Given the description of an element on the screen output the (x, y) to click on. 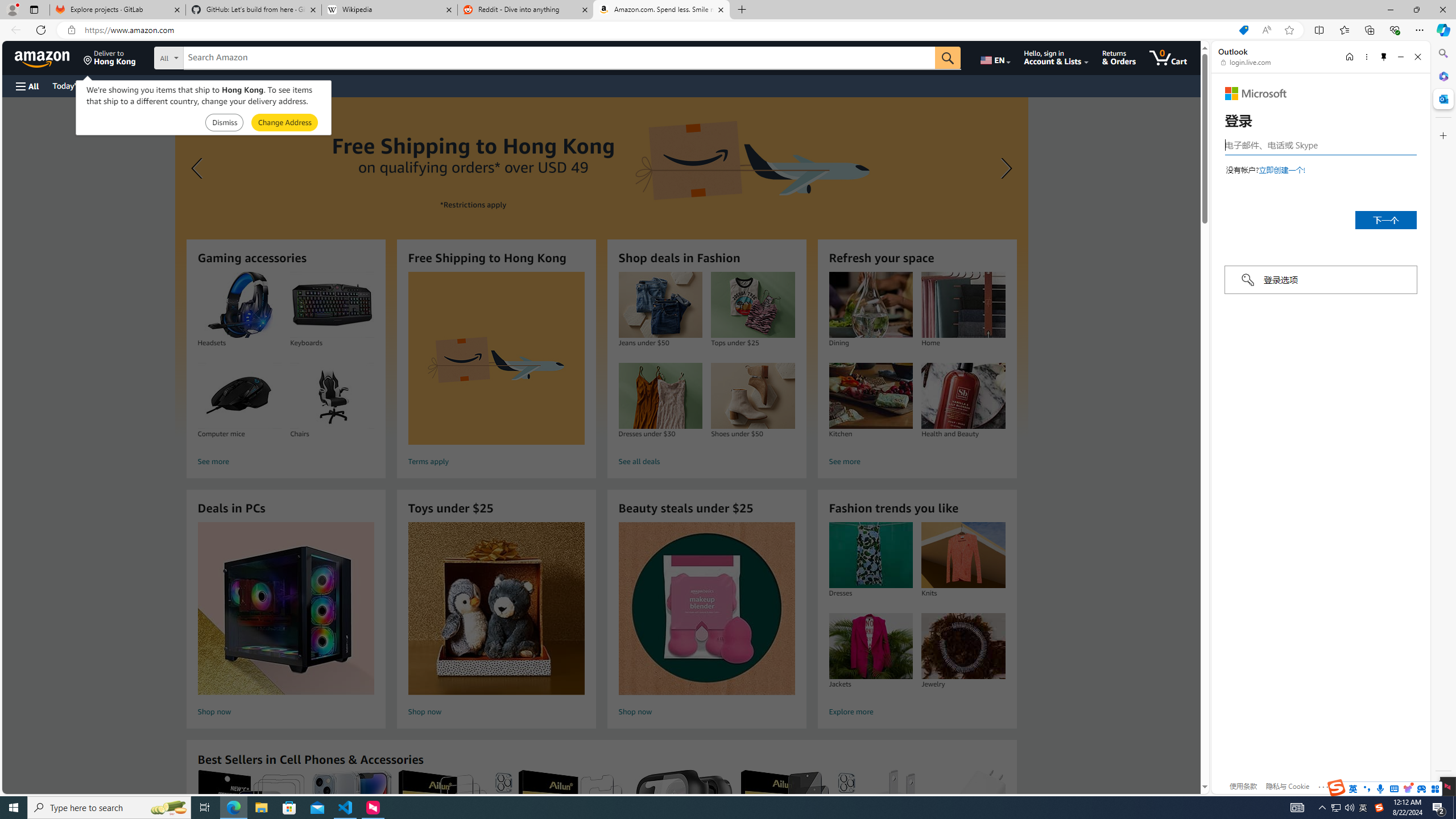
Explore more (917, 712)
Today's Deals (76, 85)
Keyboards (331, 304)
